Given the description of an element on the screen output the (x, y) to click on. 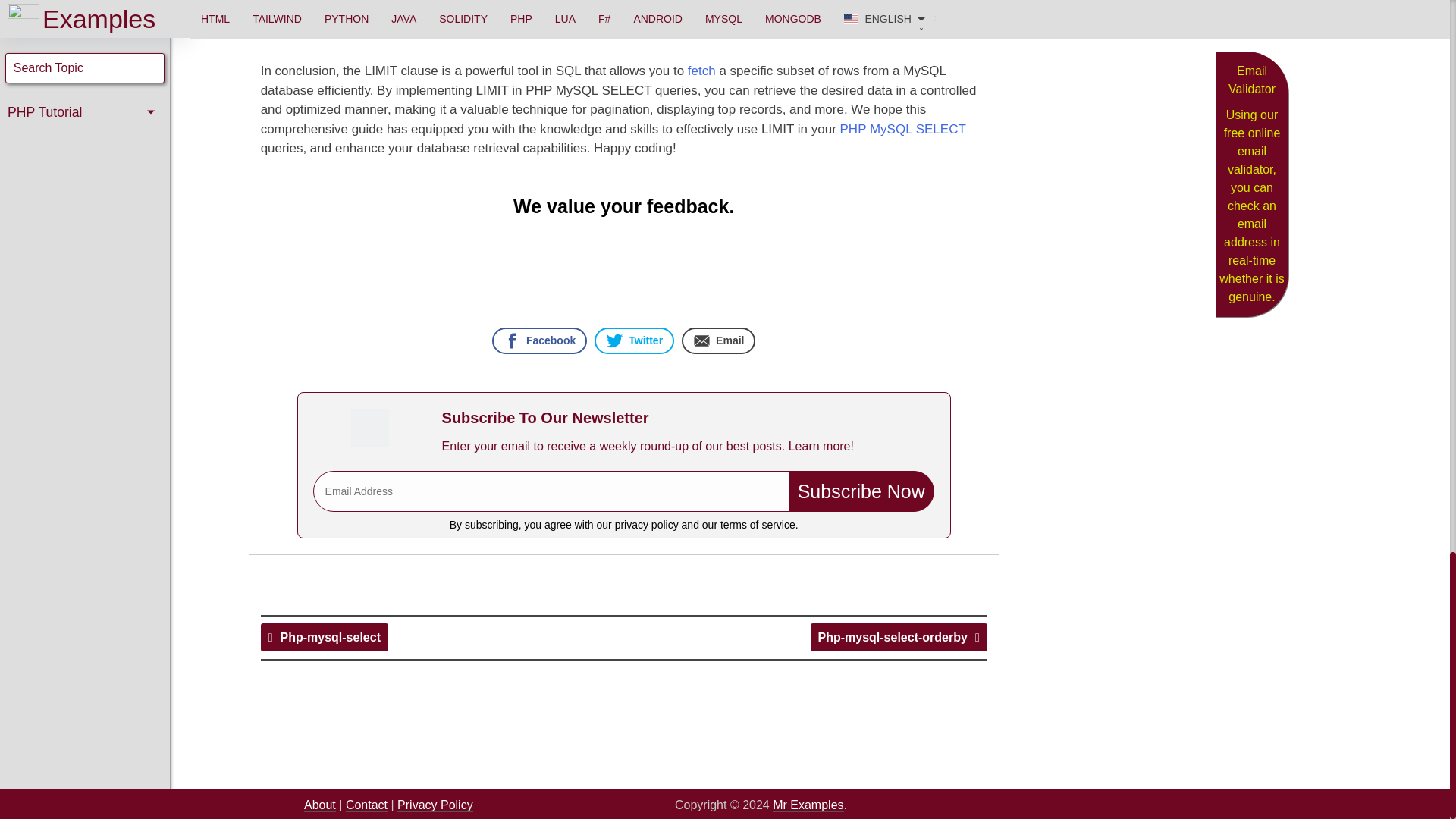
Subscribe Now (860, 491)
Mr Examples (808, 805)
